Given the description of an element on the screen output the (x, y) to click on. 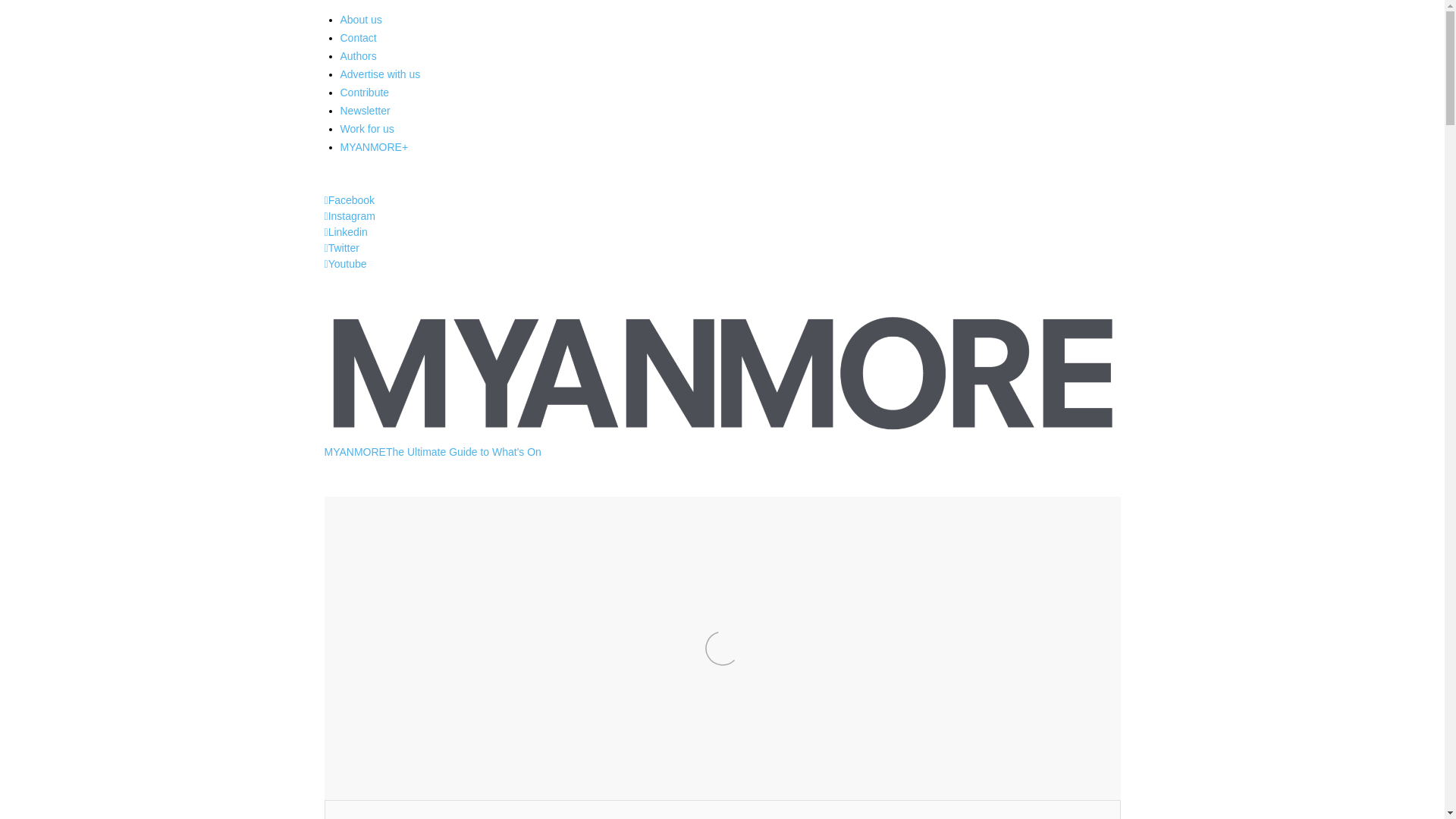
Instagram (349, 215)
Facebook (349, 200)
Youtube (345, 263)
Twitter (341, 247)
Linkedin (346, 232)
